Given the description of an element on the screen output the (x, y) to click on. 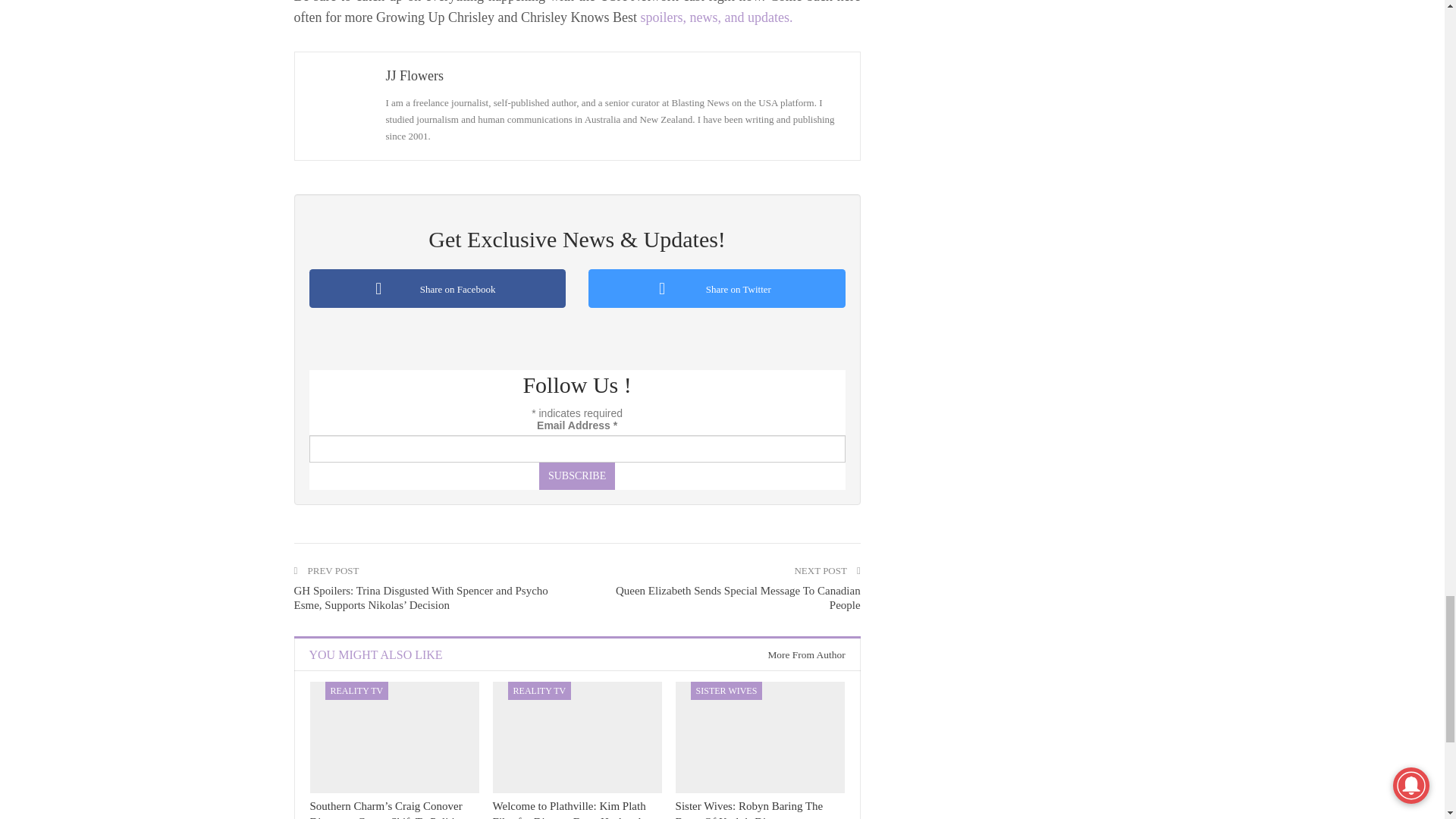
Subscribe (576, 475)
